Given the description of an element on the screen output the (x, y) to click on. 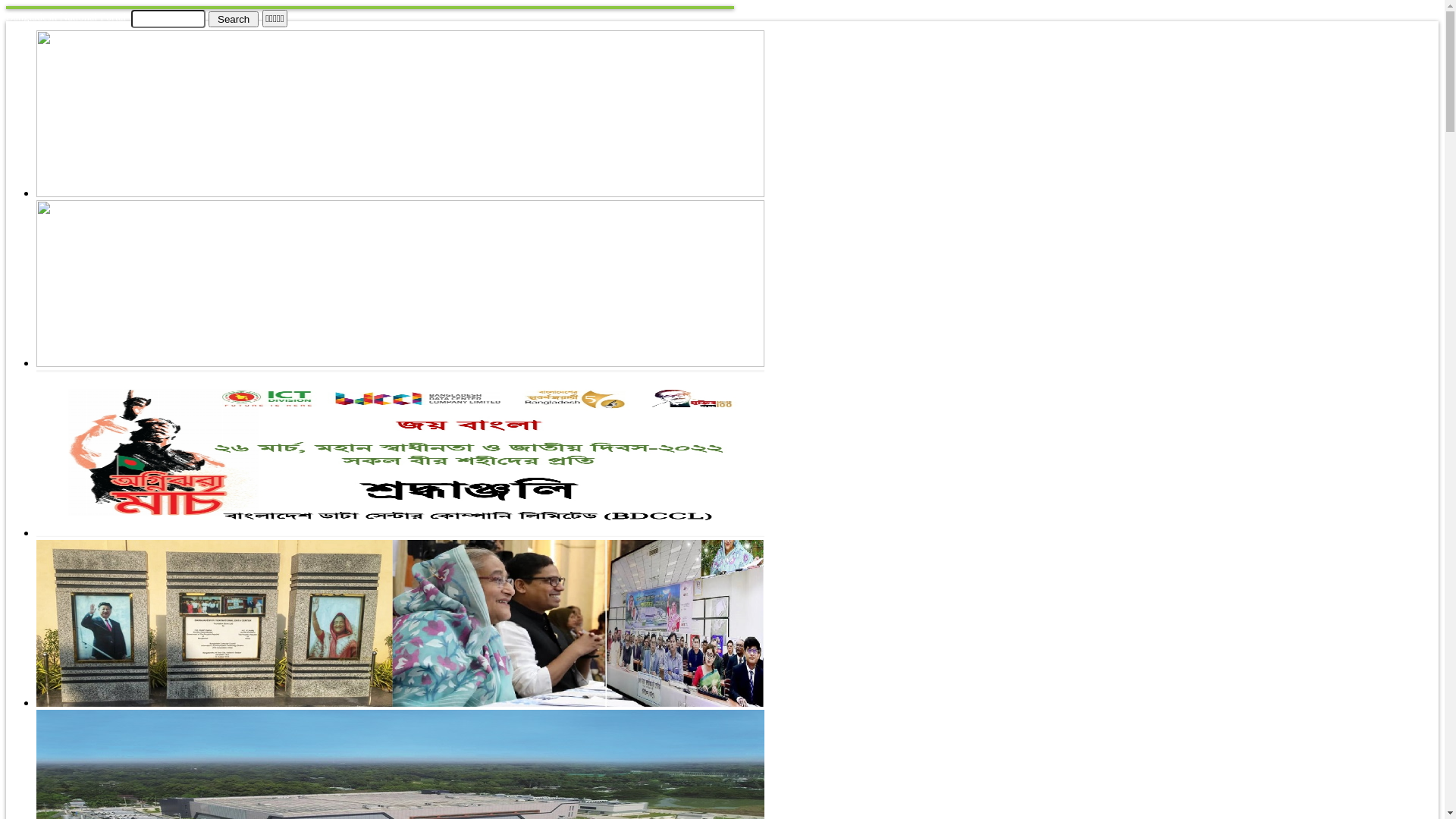
Search Element type: text (233, 18)
Bangladesh National Portal Element type: text (65, 16)
